Given the description of an element on the screen output the (x, y) to click on. 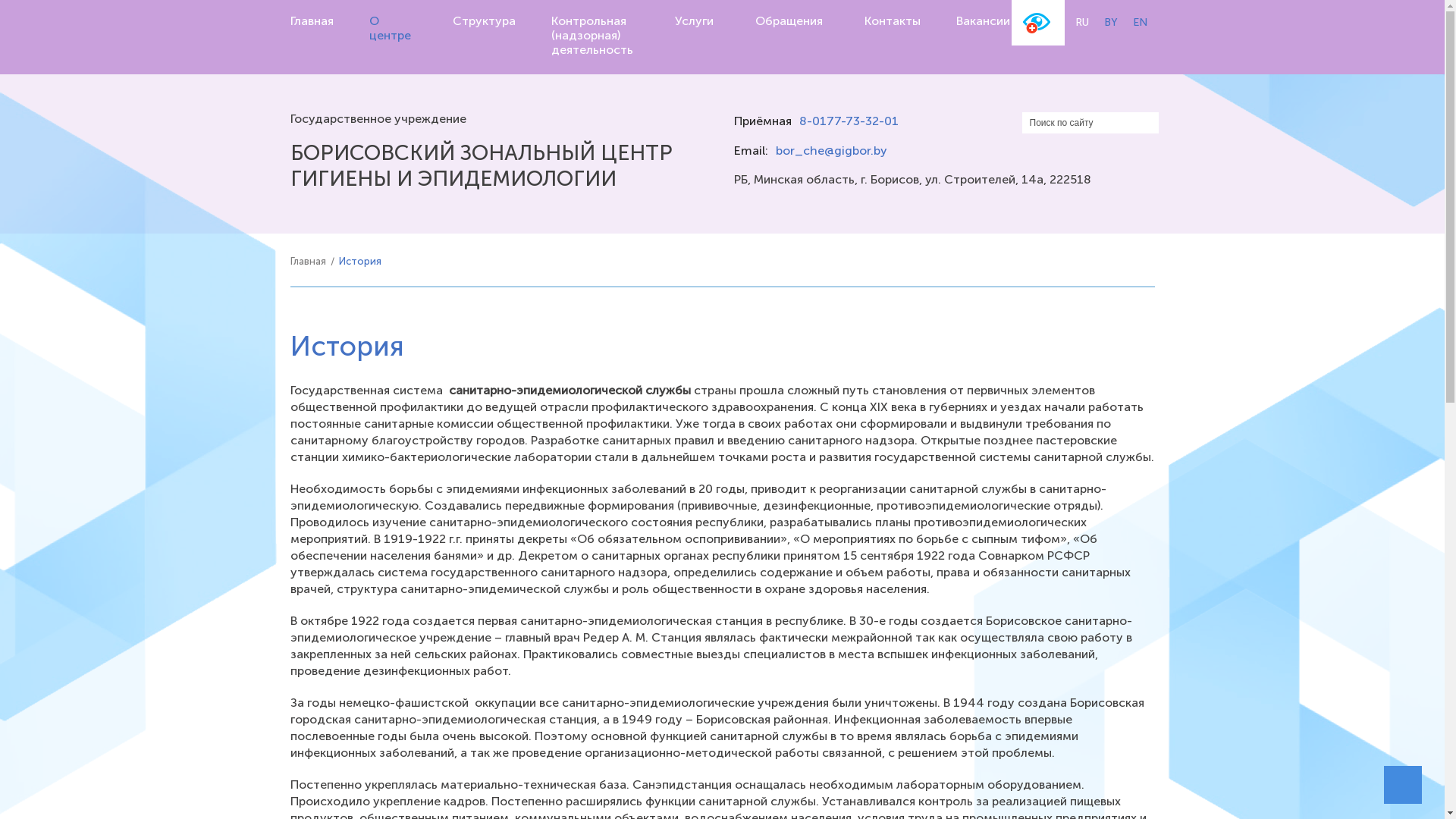
bor_che@gigbor.by Element type: text (830, 150)
8-0177-73-32-01 Element type: text (848, 120)
RU Element type: text (1081, 21)
BY Element type: text (1110, 21)
EN Element type: text (1139, 21)
